Given the description of an element on the screen output the (x, y) to click on. 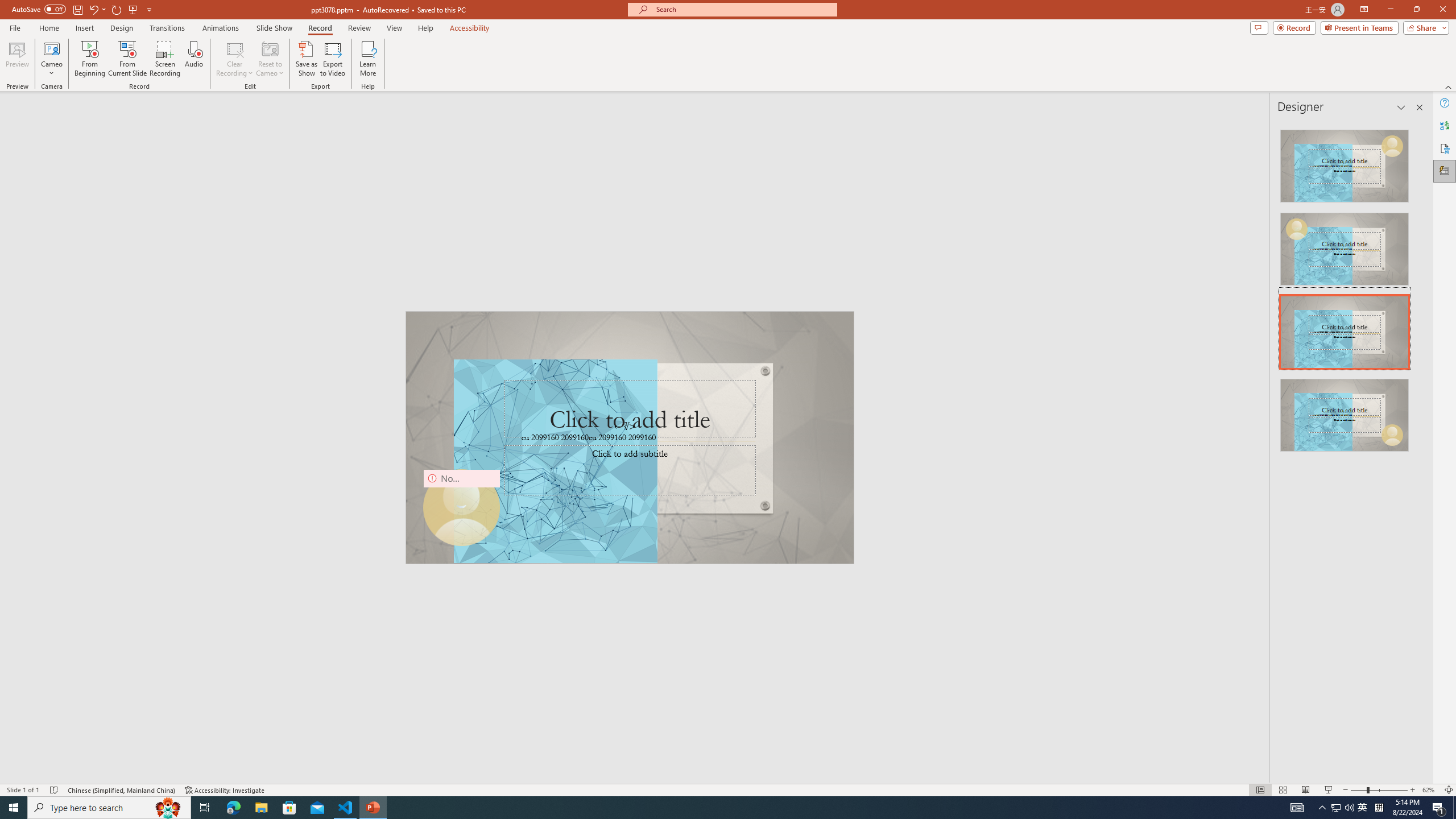
From Beginning... (89, 58)
Learn More (368, 58)
TextBox 7 (624, 426)
Export to Video (332, 58)
Recommended Design: Design Idea (1344, 162)
TextBox 61 (628, 438)
